Given the description of an element on the screen output the (x, y) to click on. 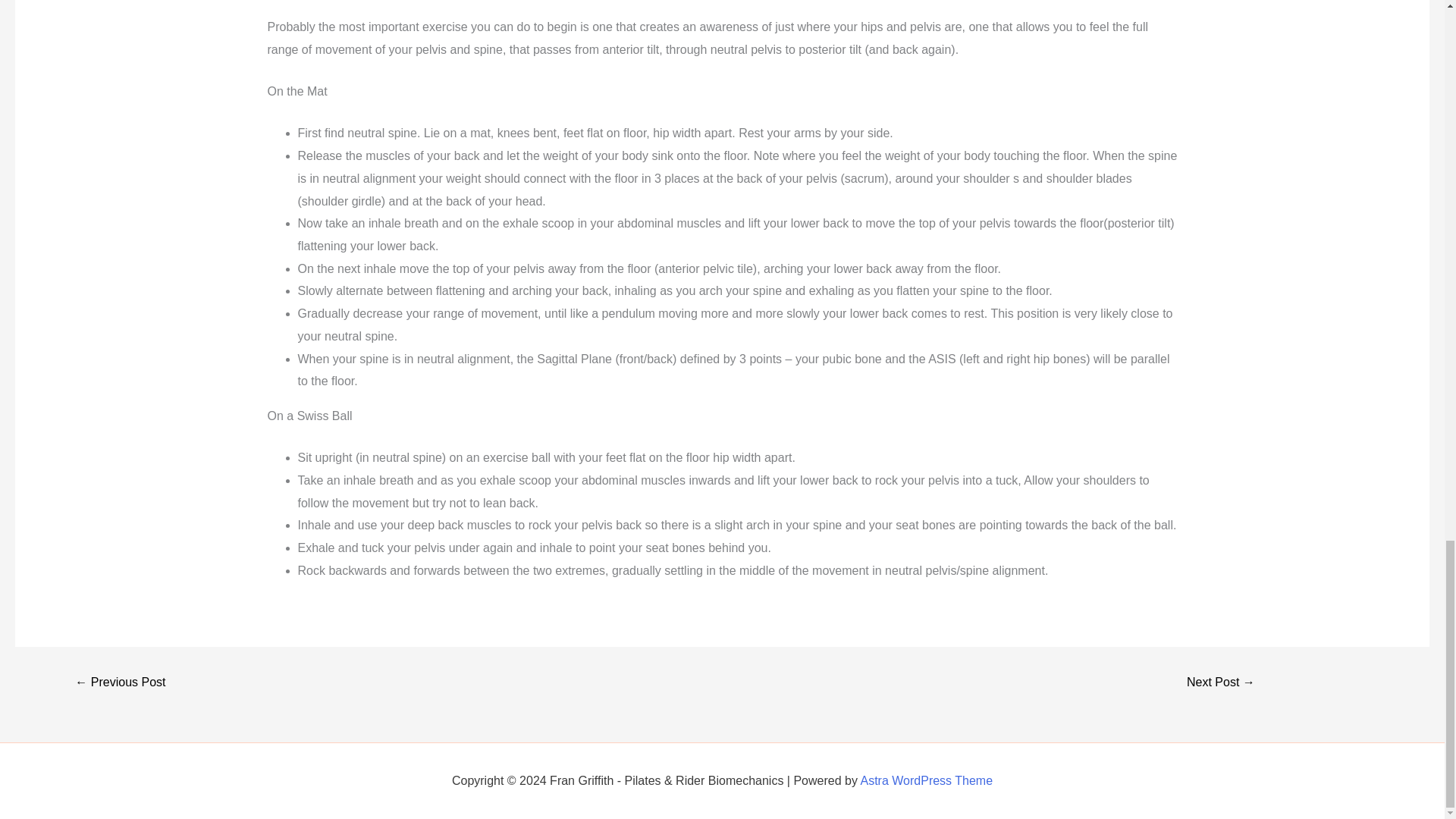
Spinal Misalignment (1220, 682)
Weight Aids (119, 682)
